Given the description of an element on the screen output the (x, y) to click on. 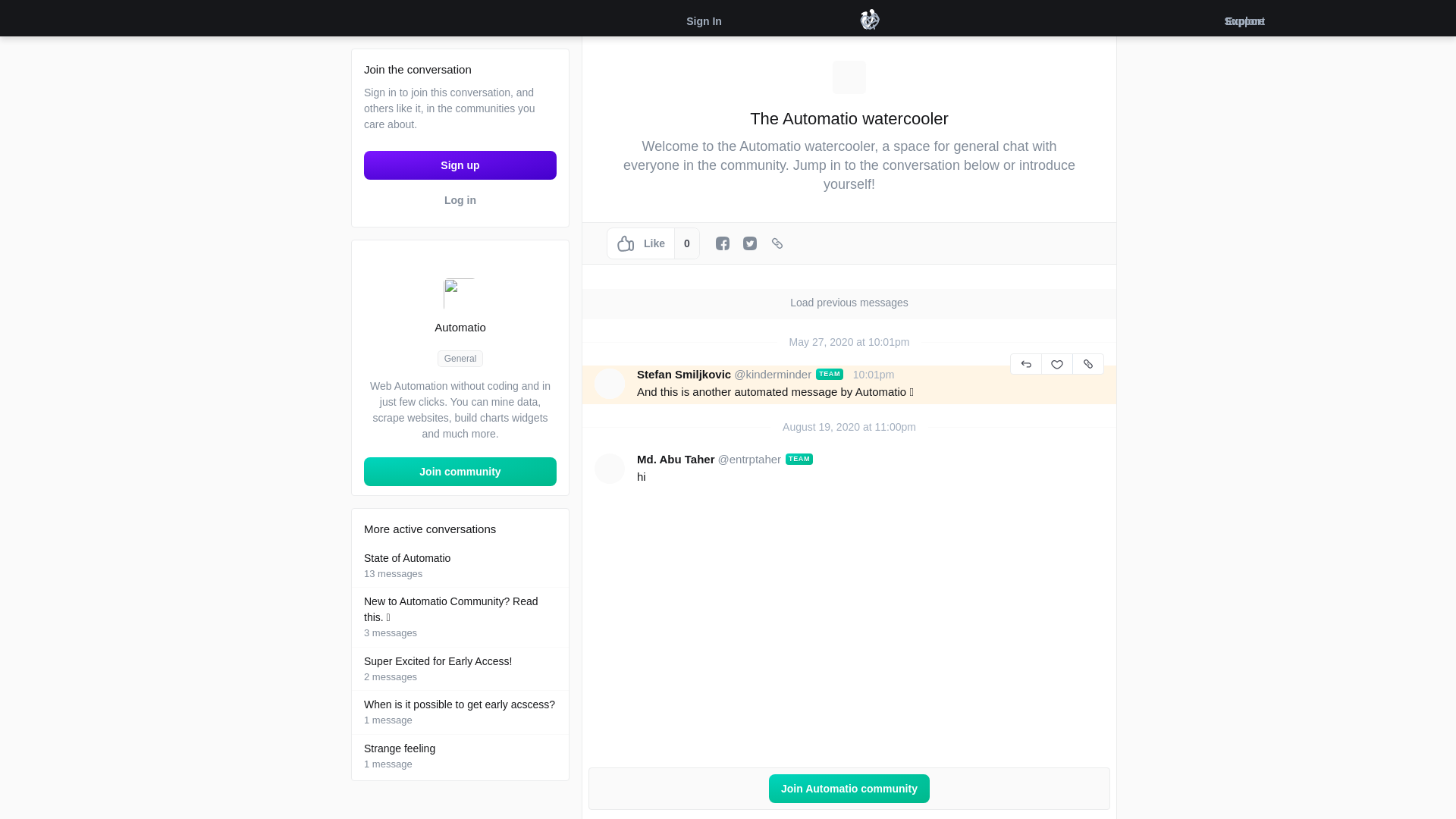
Join community (460, 669)
Join community (460, 471)
Automatio (460, 471)
Log in (460, 290)
Sign up (460, 199)
Explore (460, 756)
10:01pm (460, 164)
Sign In (1061, 20)
Like0 (460, 566)
The Automatio watercooler (873, 374)
Skip to content (1061, 20)
